Given the description of an element on the screen output the (x, y) to click on. 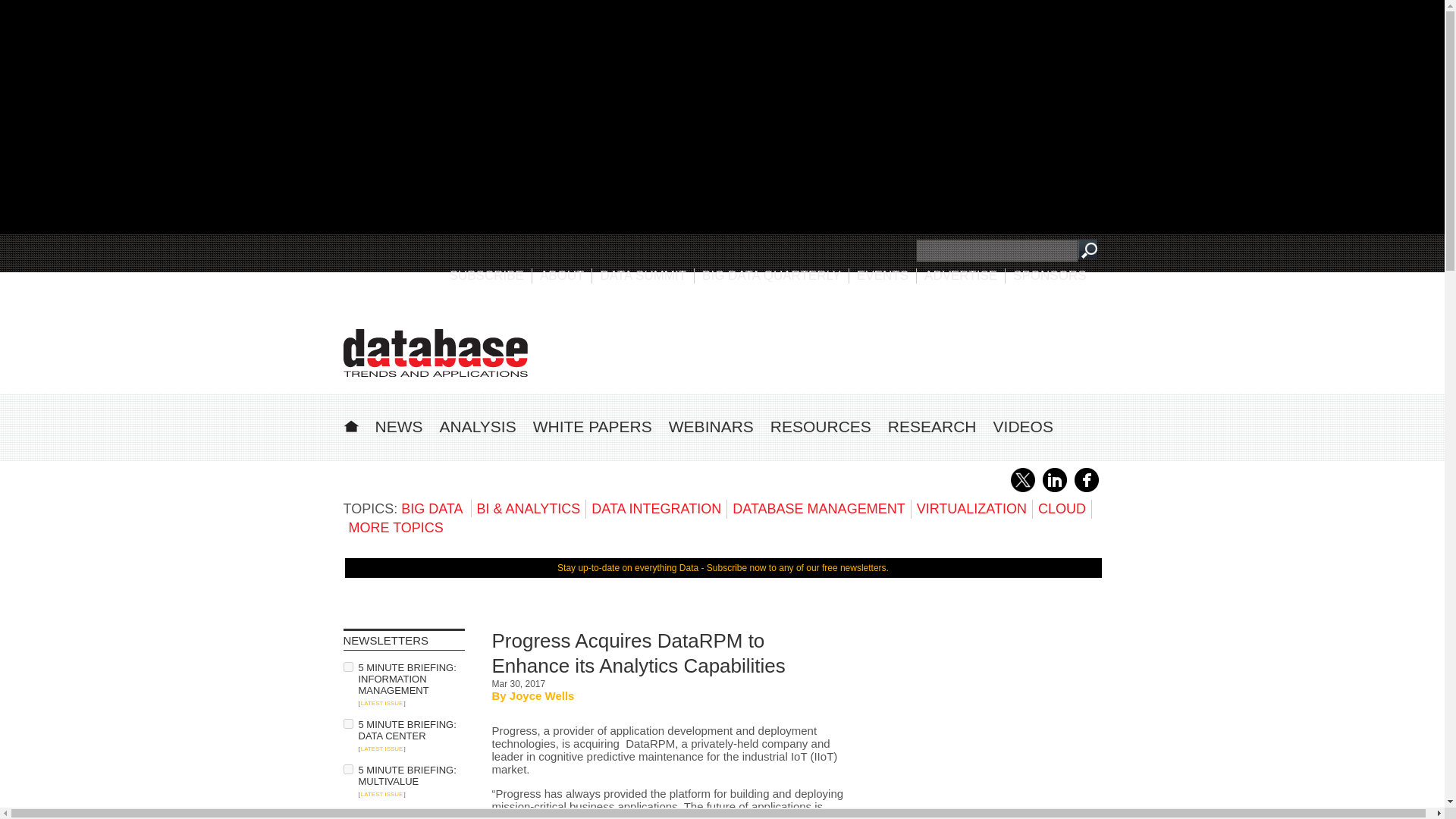
Database Trends and Applications Home (350, 424)
WEBINARS (711, 425)
RESEARCH (932, 425)
EVENTS (882, 275)
DATA SUMMIT (642, 275)
DBTA on LinkedIn (1053, 489)
3rd party ad content (986, 723)
VIDEOS (1022, 425)
on (347, 814)
